Given the description of an element on the screen output the (x, y) to click on. 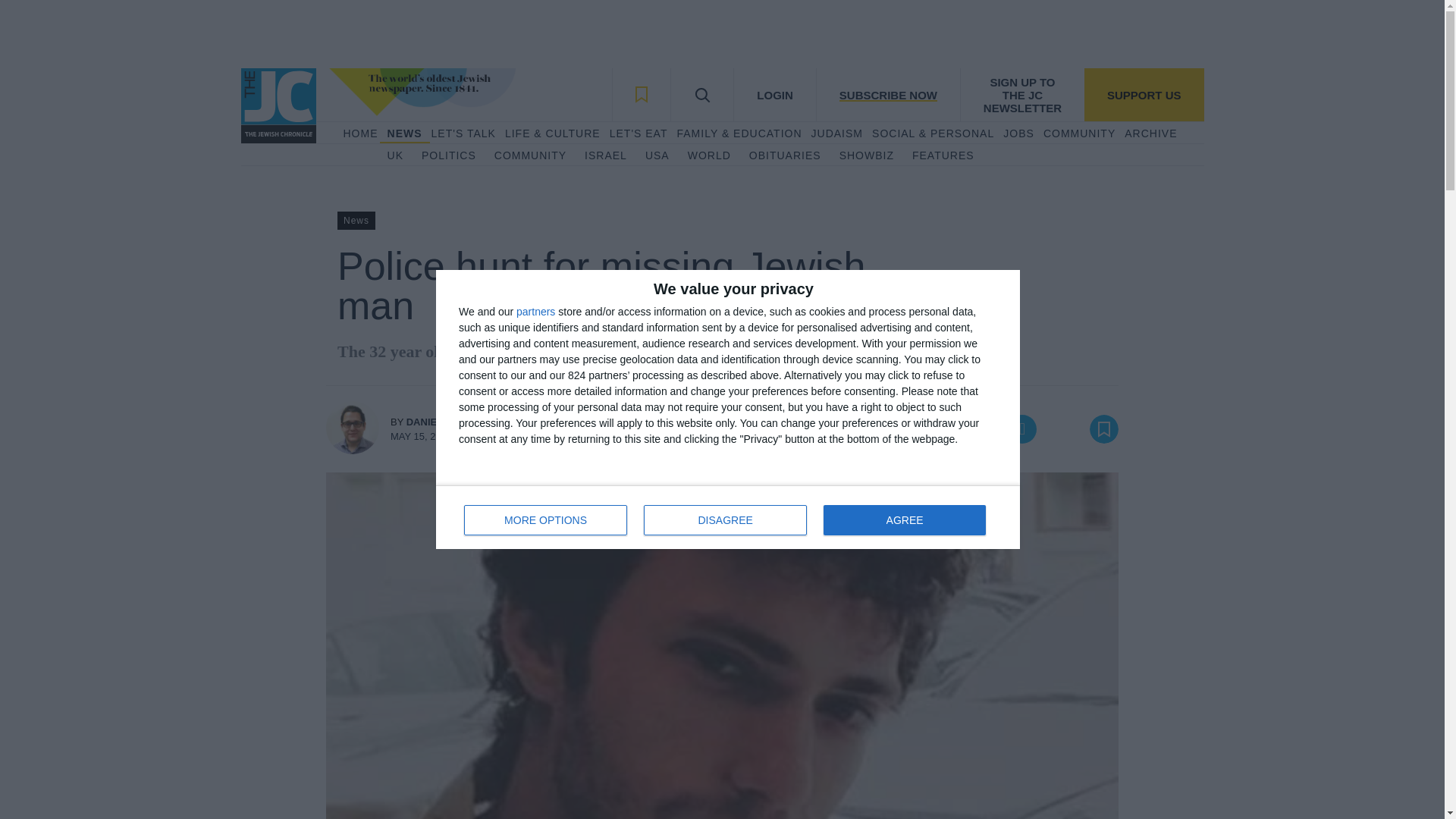
DISAGREE (724, 520)
SIGN UP TO THE JC NEWSLETTER (1021, 94)
JUDAISM (836, 133)
SUBSCRIBE NOW (887, 94)
ARCHIVE (1150, 133)
LET'S TALK (463, 133)
SHOWBIZ (866, 155)
OBITUARIES (785, 155)
COMMUNITY (530, 155)
COMMUNITY (1079, 133)
